Given the description of an element on the screen output the (x, y) to click on. 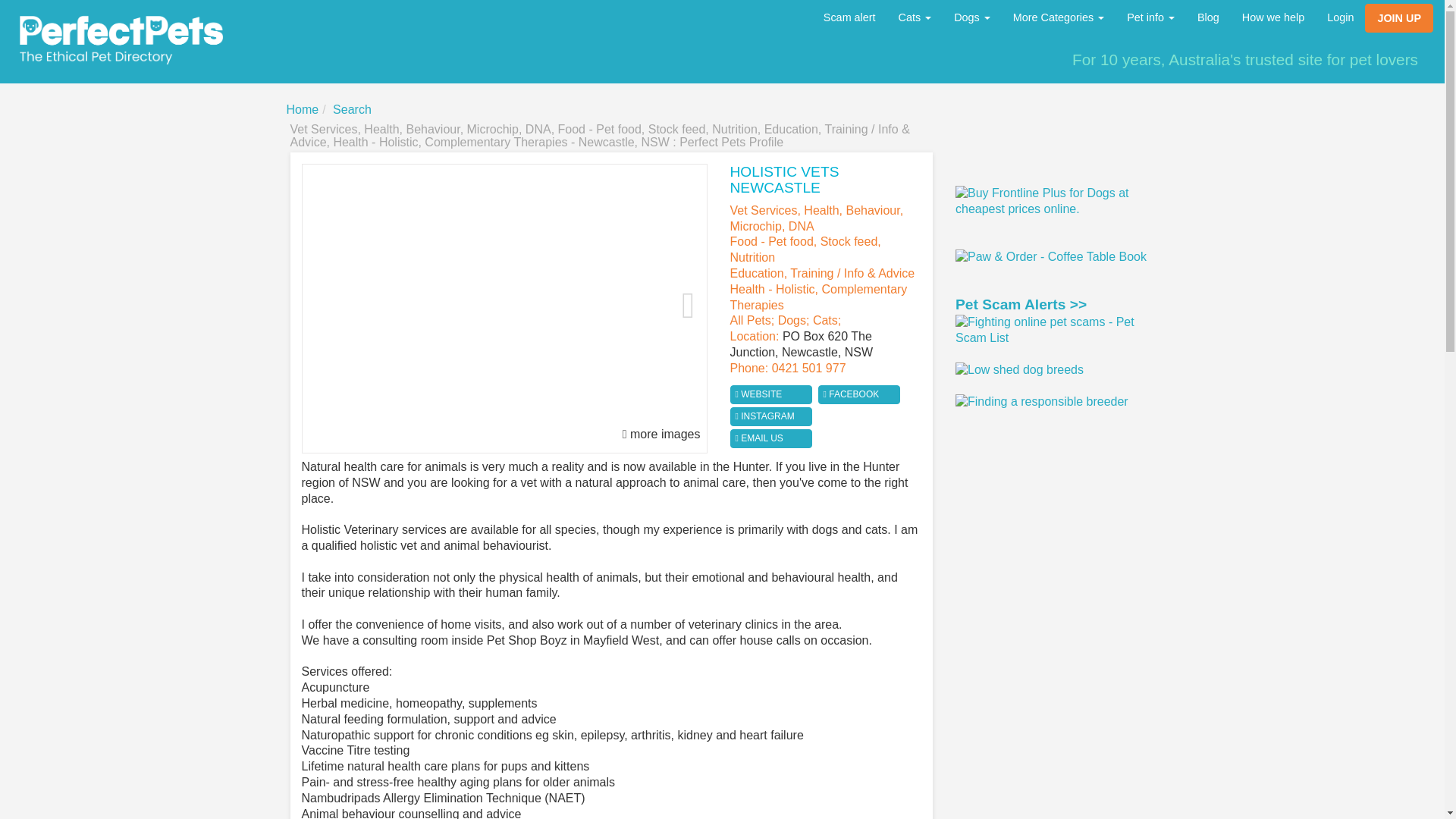
Cats (914, 17)
Blog (1208, 17)
Fighting online pet scams - Pet Scam List (1054, 330)
Home (302, 109)
more images (661, 435)
Search (352, 109)
Pet info (1150, 17)
Low shed dog breeds (1019, 370)
Dogs (971, 17)
More Categories (1058, 17)
Scam alert (849, 17)
Login (1340, 17)
JOIN UP (1398, 18)
How we help (1273, 17)
Finding a responsible breeder (1041, 401)
